Given the description of an element on the screen output the (x, y) to click on. 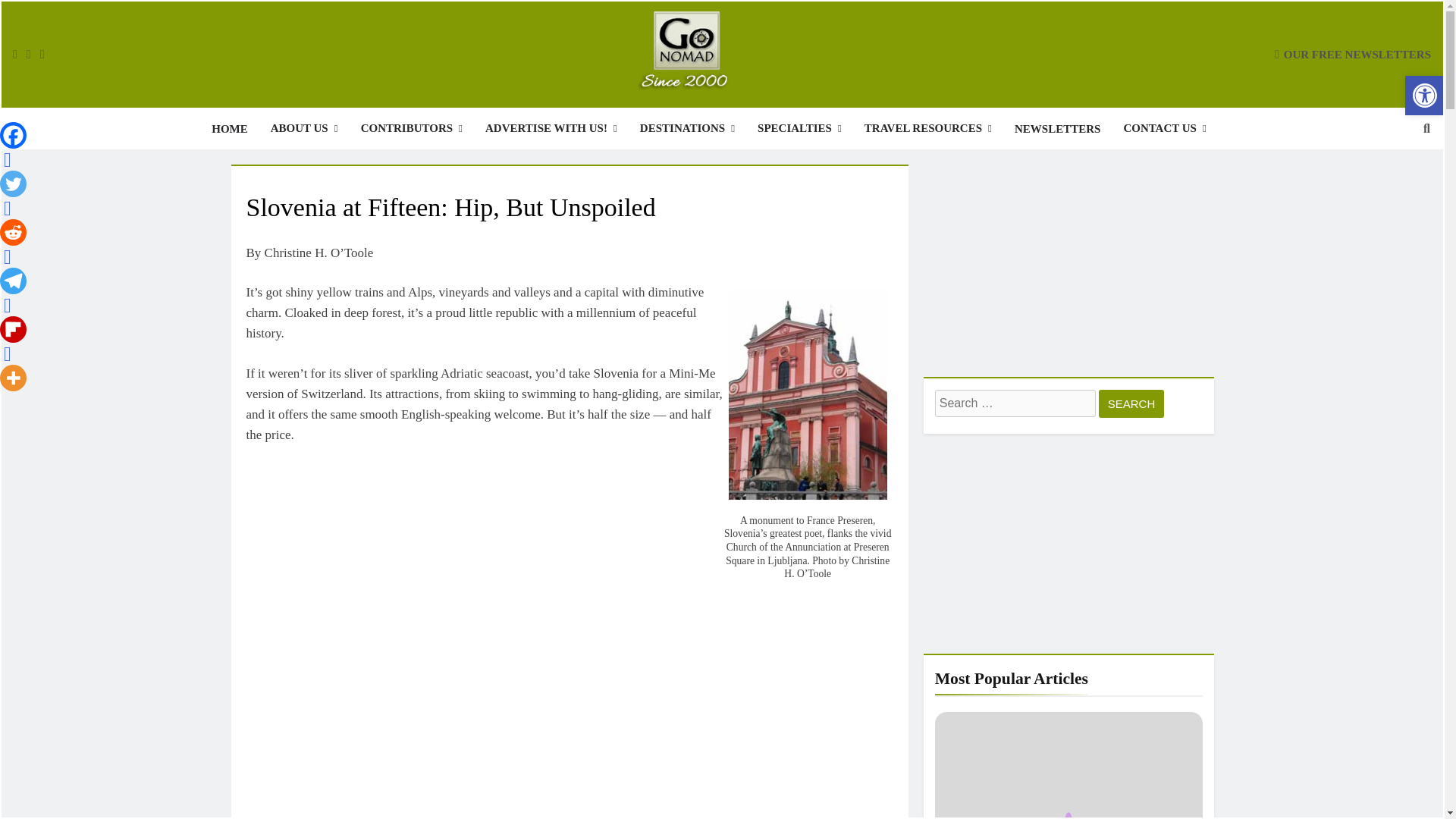
OUR FREE NEWSLETTERS (1353, 52)
SPECIALTIES (799, 128)
Search (1131, 403)
DESTINATIONS (686, 128)
CONTRIBUTORS (411, 128)
Search (1131, 403)
ADVERTISE WITH US! (551, 128)
GoNOMAD Travel (437, 119)
ABOUT US (304, 128)
